Given the description of an element on the screen output the (x, y) to click on. 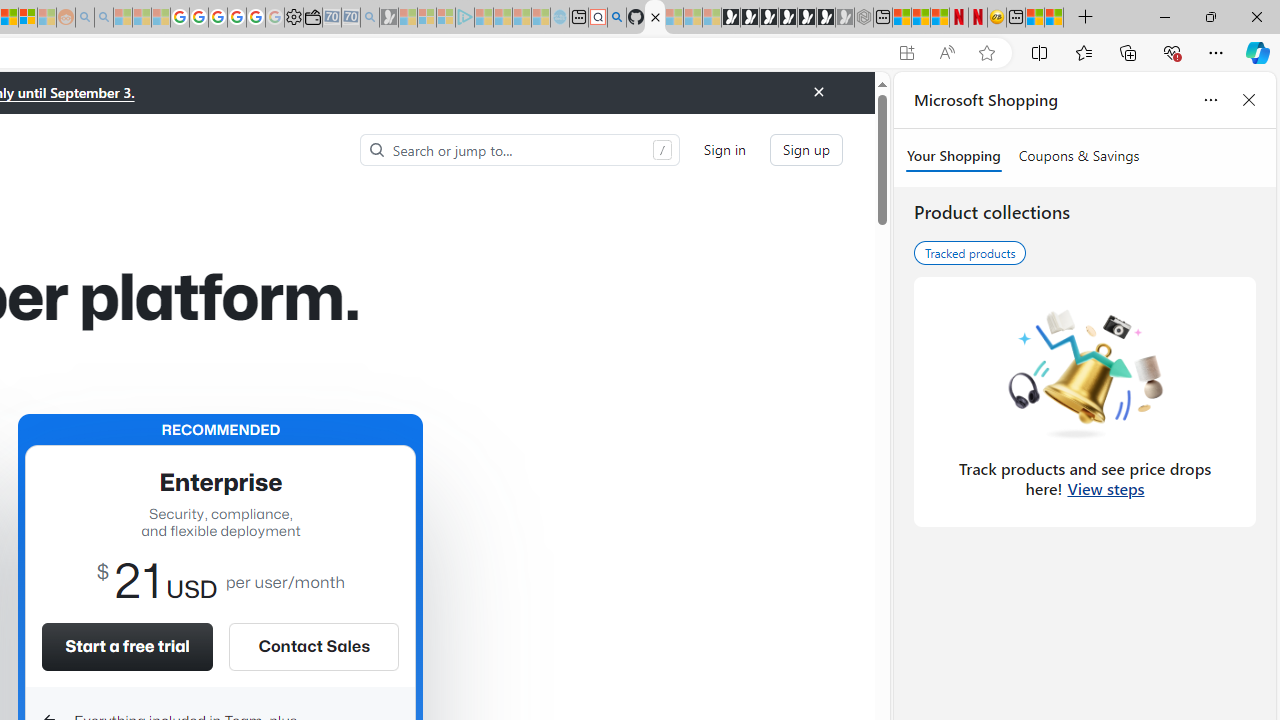
Wallet (312, 17)
github - Search (616, 17)
